Given the description of an element on the screen output the (x, y) to click on. 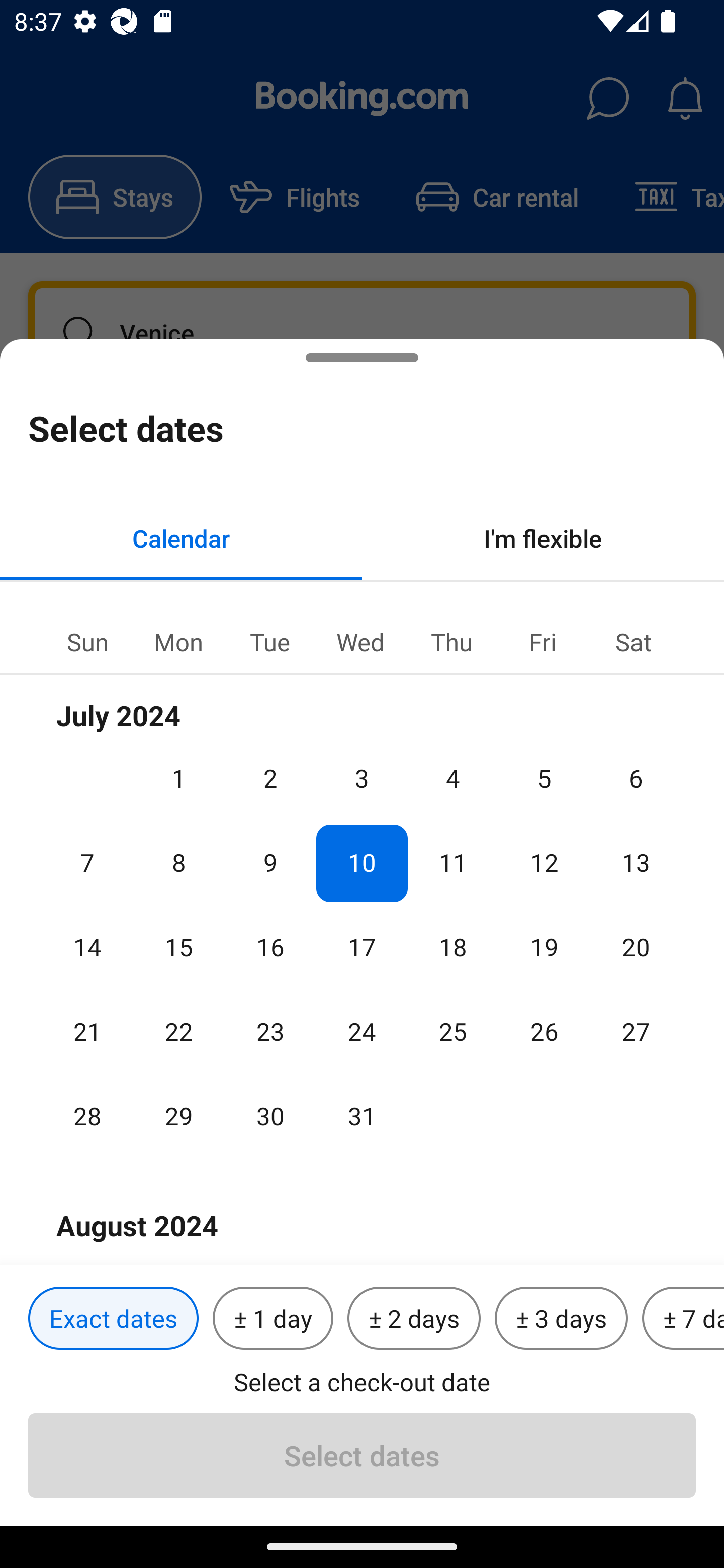
I'm flexible (543, 537)
Exact dates (113, 1318)
± 1 day (272, 1318)
± 2 days (413, 1318)
± 3 days (560, 1318)
± 7 days (683, 1318)
Select dates (361, 1454)
